Given the description of an element on the screen output the (x, y) to click on. 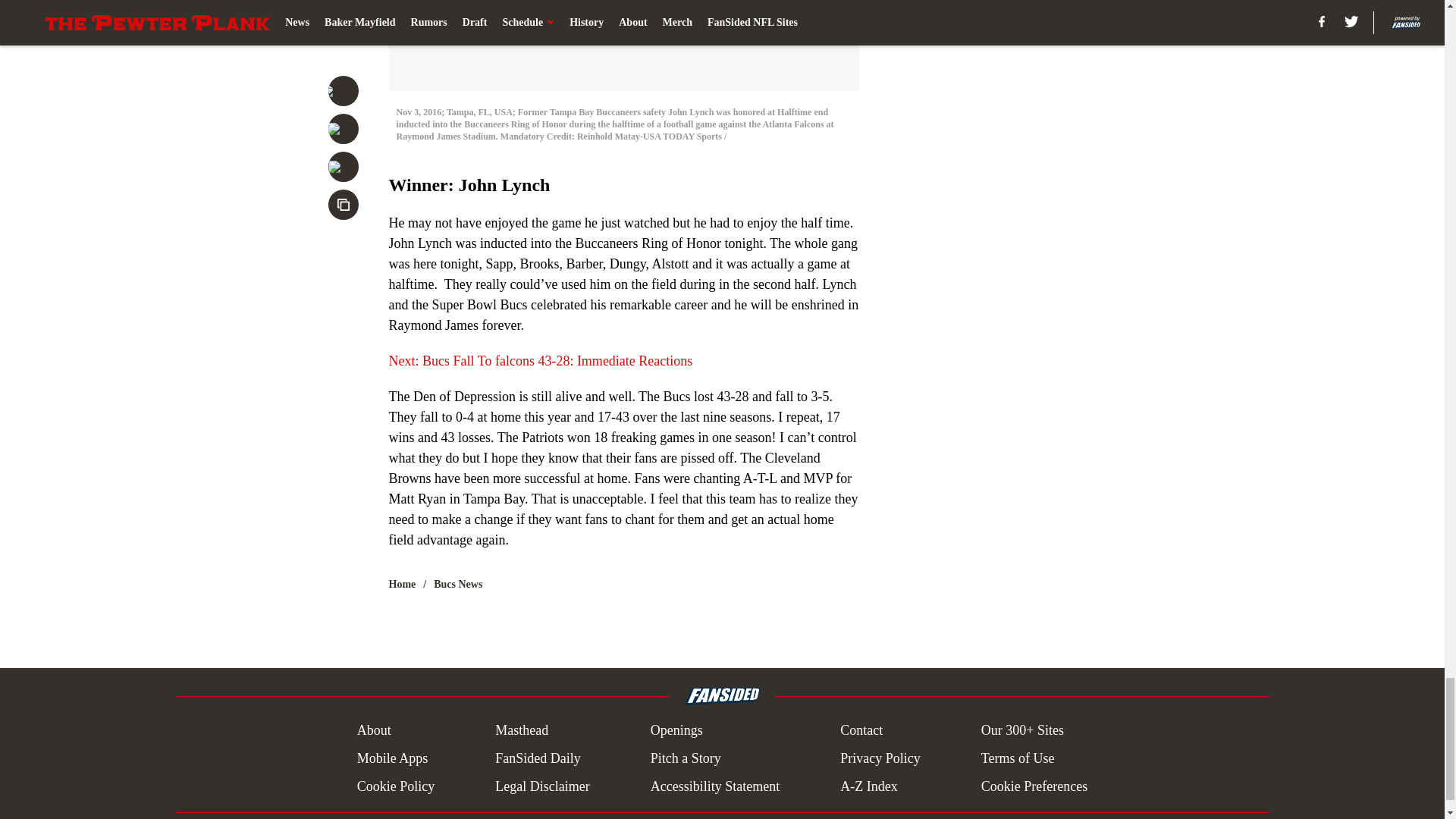
Cookie Policy (395, 786)
About (373, 730)
Pitch a Story (685, 758)
A-Z Index (868, 786)
Terms of Use (1017, 758)
Accessibility Statement (714, 786)
Legal Disclaimer (542, 786)
Cookie Preferences (1034, 786)
Bucs News (457, 584)
FanSided Daily (537, 758)
Masthead (521, 730)
Contact (861, 730)
Next: Bucs Fall To falcons 43-28: Immediate Reactions (540, 360)
Mobile Apps (392, 758)
Home (401, 584)
